Given the description of an element on the screen output the (x, y) to click on. 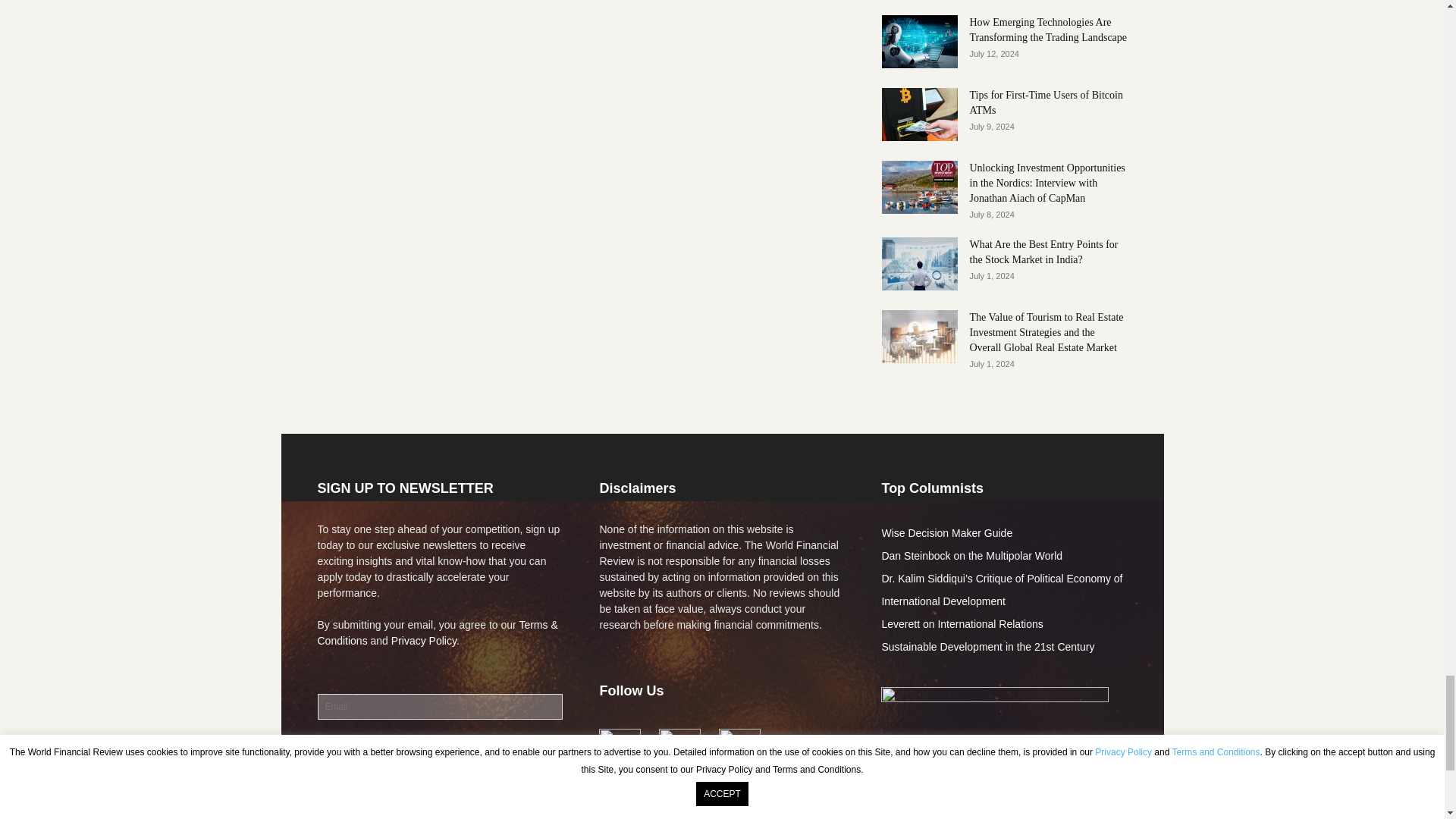
Subscribe (350, 750)
